Given the description of an element on the screen output the (x, y) to click on. 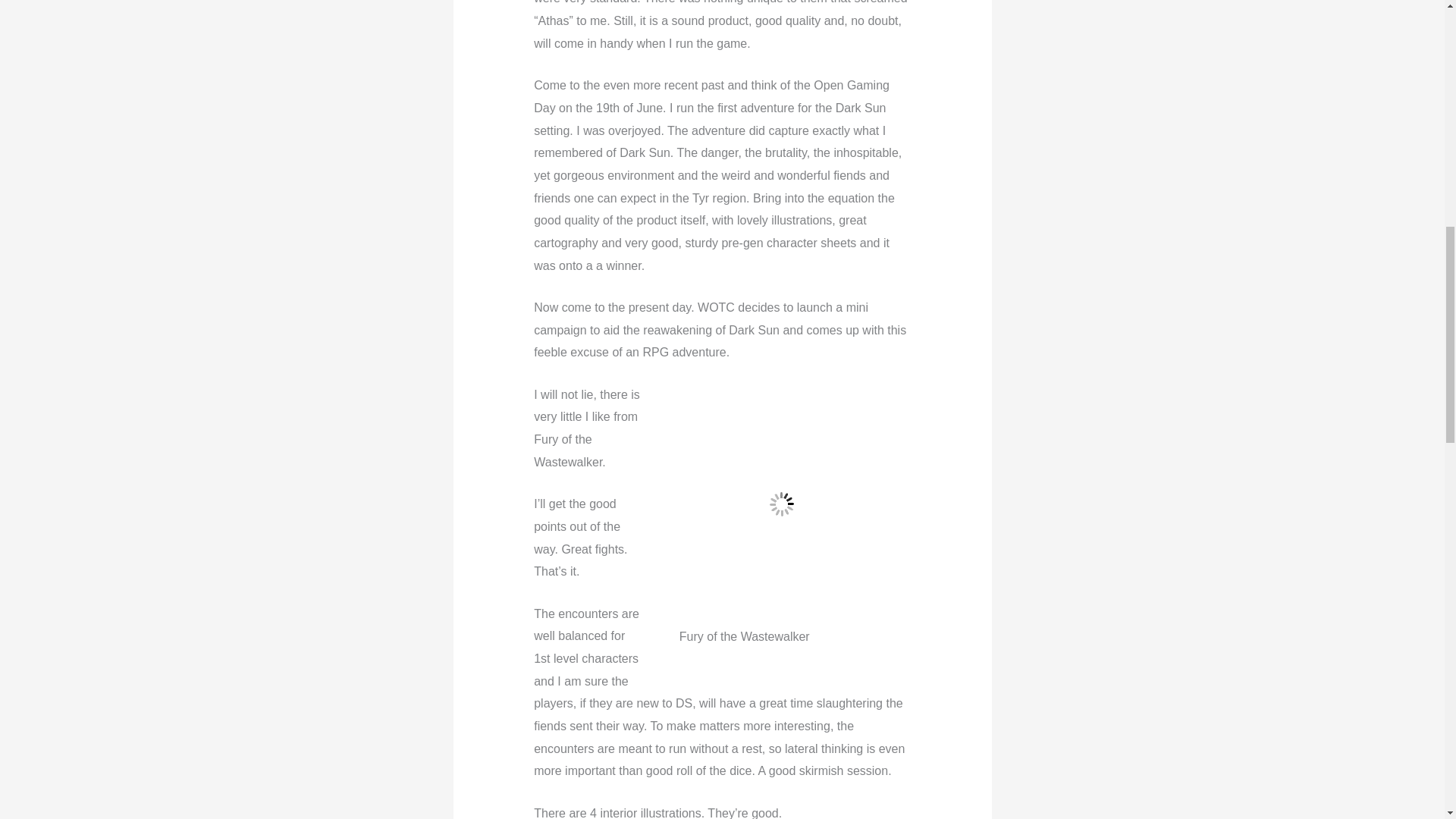
Fury of the Wastewalker (781, 504)
